Given the description of an element on the screen output the (x, y) to click on. 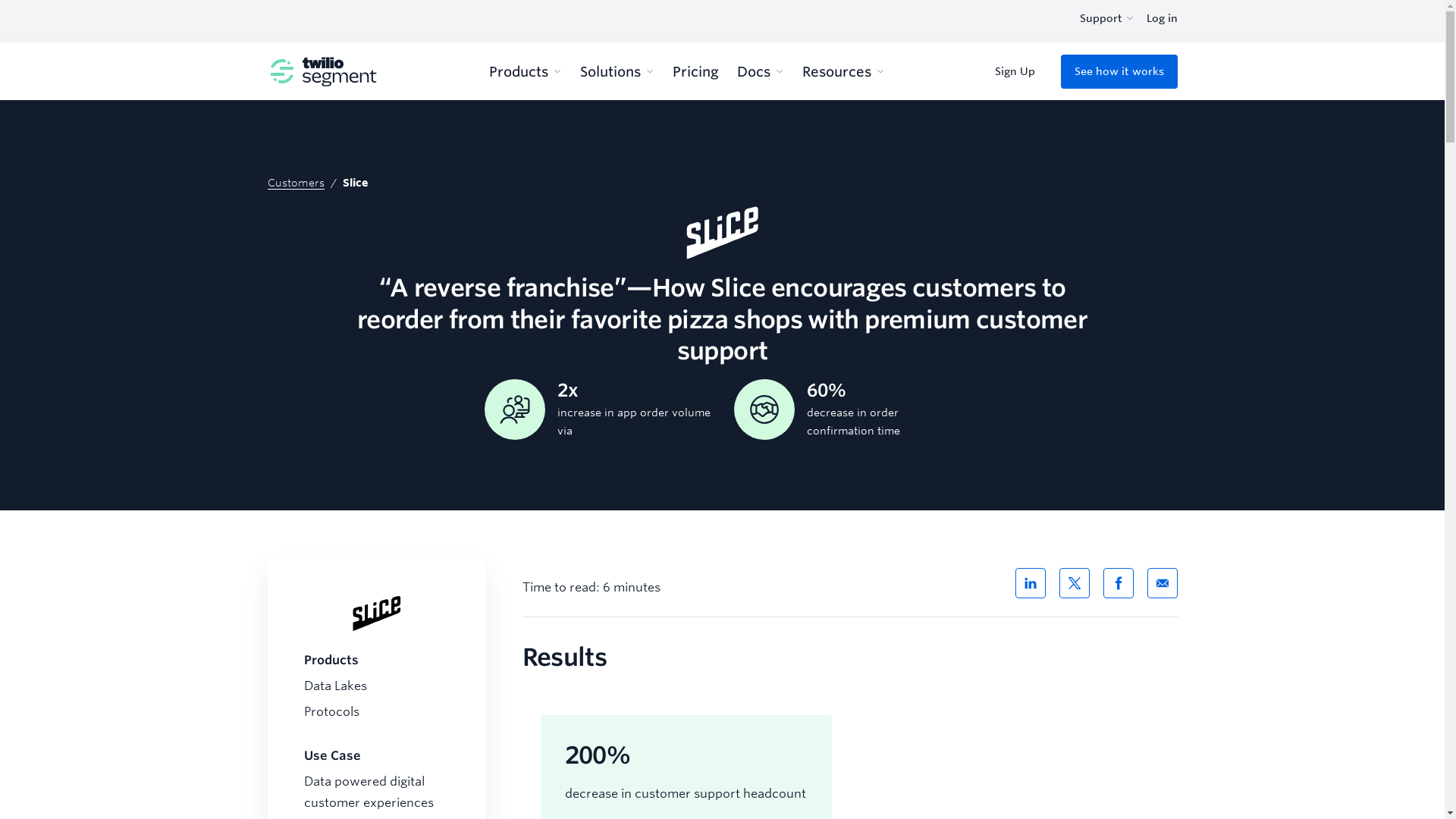
Log in (1162, 18)
Products (525, 70)
Support (1107, 18)
